Given the description of an element on the screen output the (x, y) to click on. 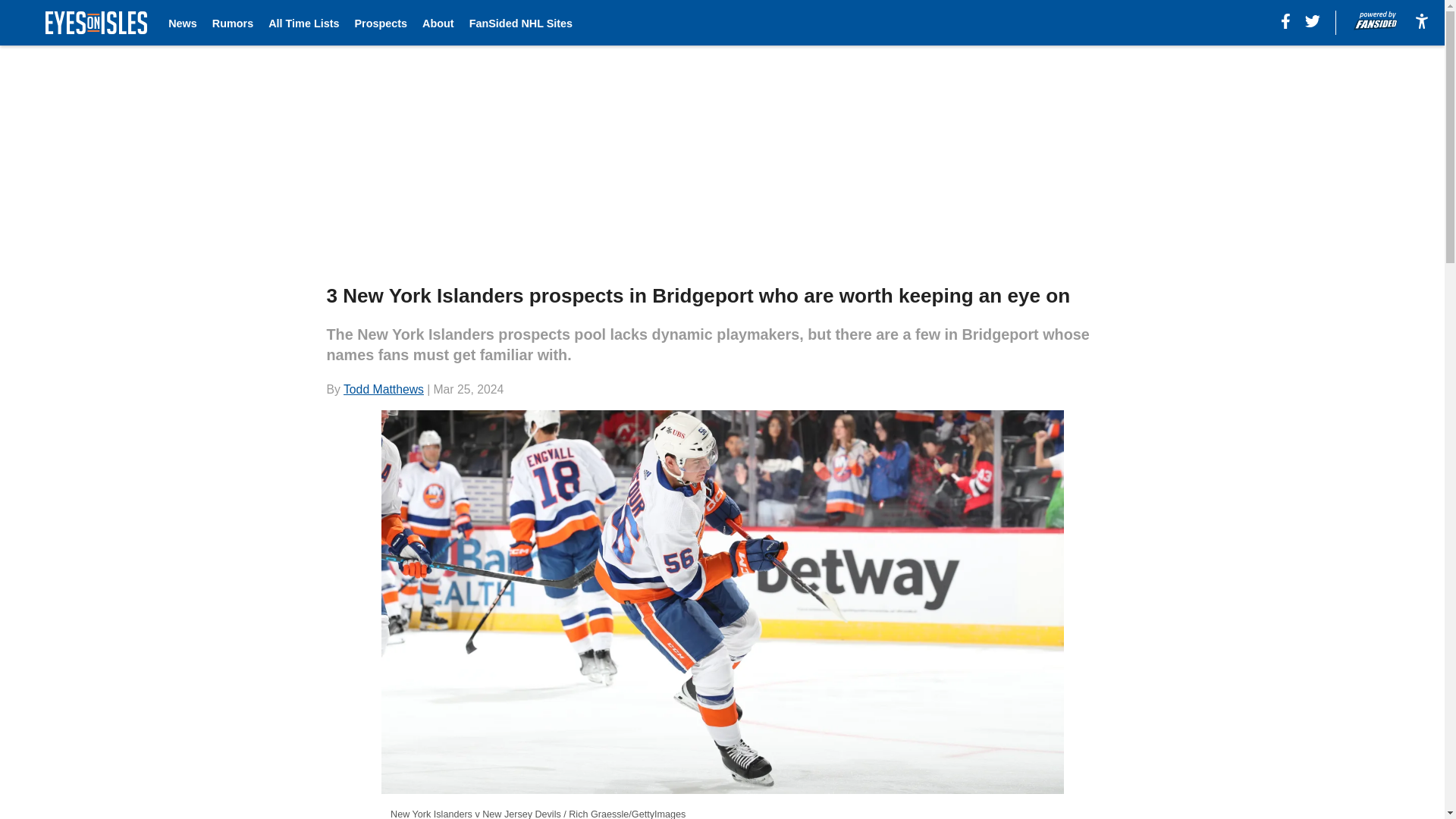
FanSided NHL Sites (520, 23)
About (438, 23)
News (182, 23)
All Time Lists (303, 23)
Rumors (232, 23)
Todd Matthews (383, 389)
Prospects (381, 23)
